Given the description of an element on the screen output the (x, y) to click on. 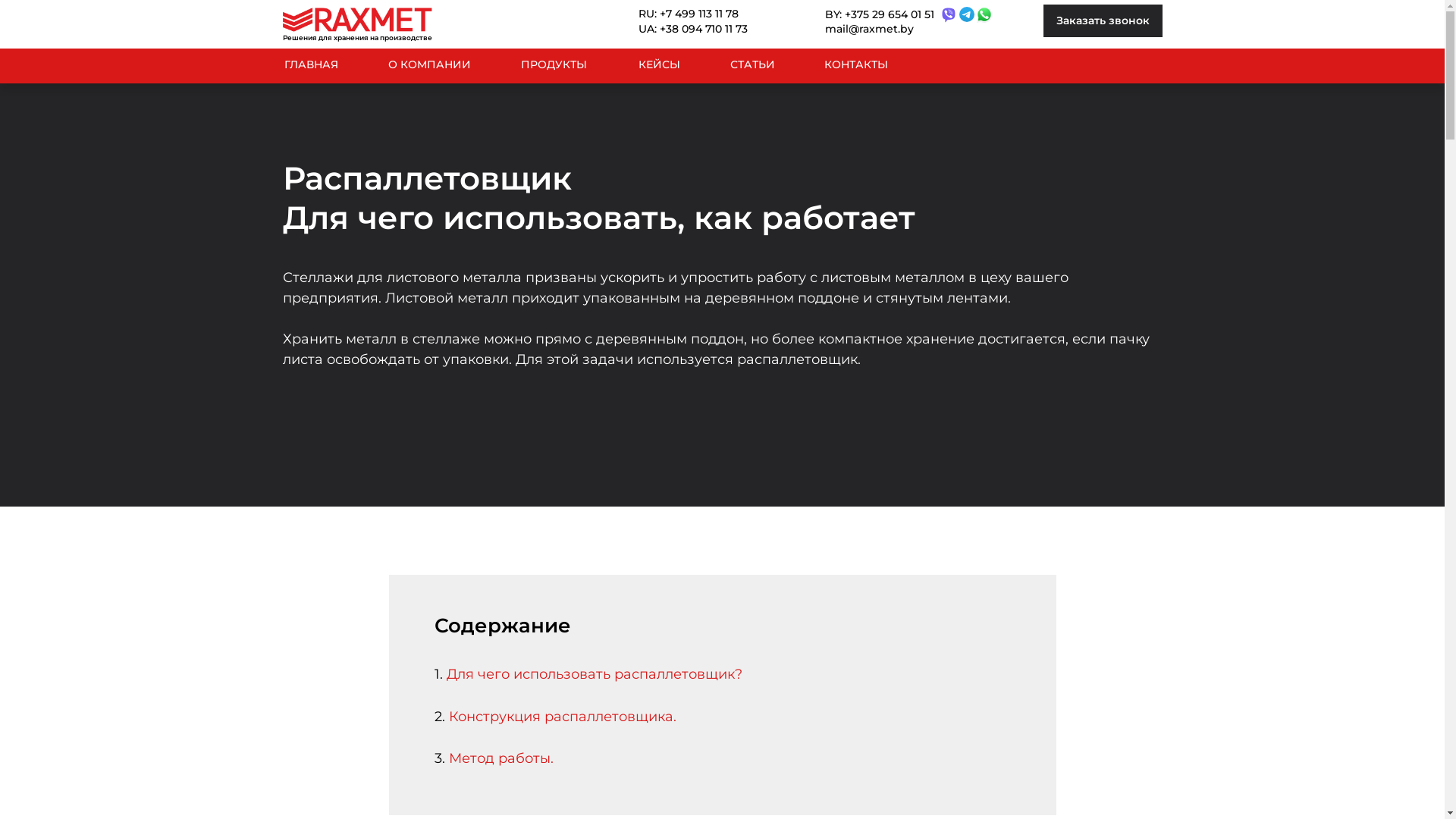
BY: +375 29 654 01 51 Element type: text (881, 14)
RU: +7 499 113 11 78 Element type: text (704, 14)
mail@raxmet.by Element type: text (869, 29)
UA: +38 094 710 11 73 Element type: text (704, 29)
